Given the description of an element on the screen output the (x, y) to click on. 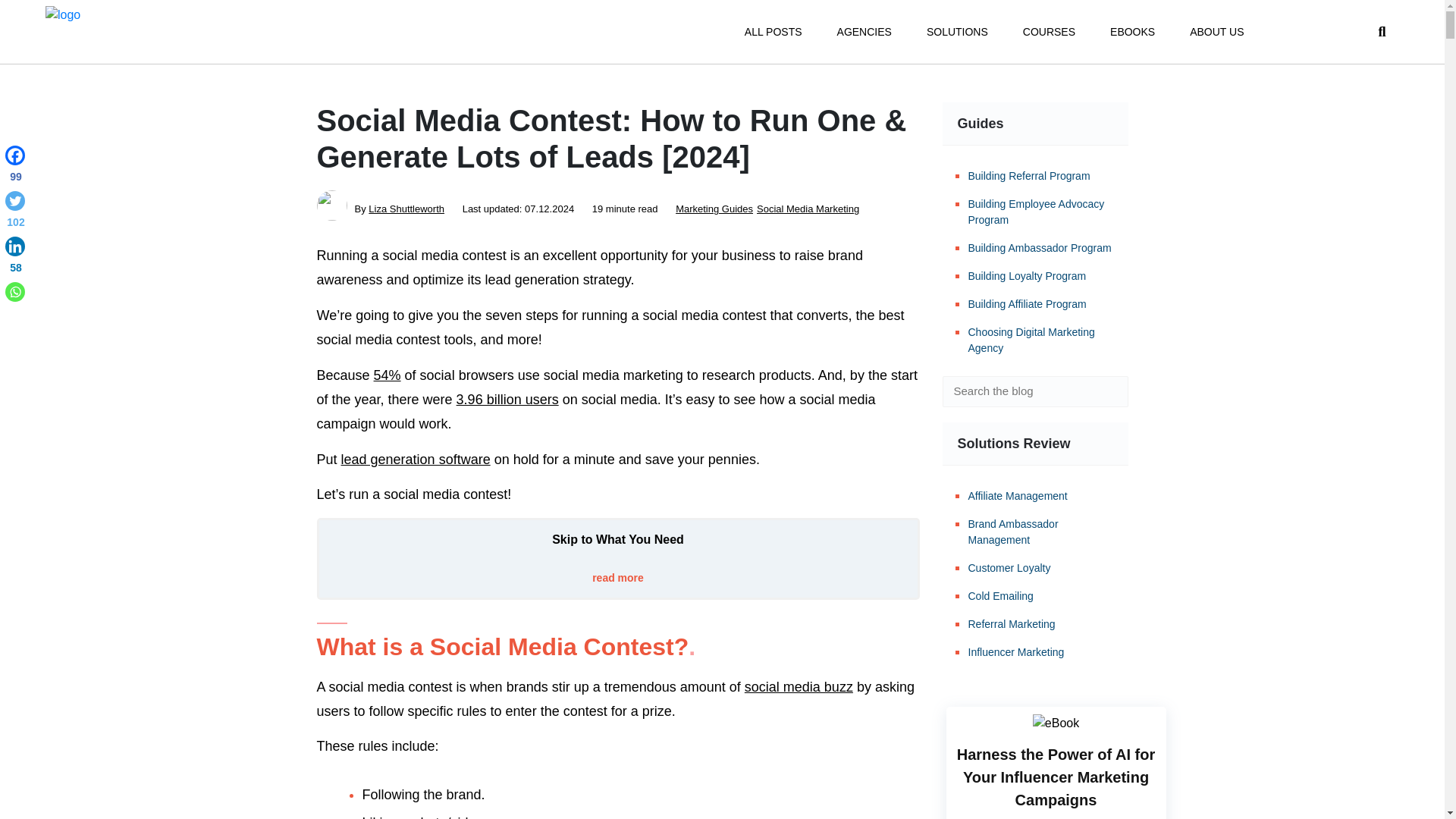
SOLUTIONS (957, 31)
Twitter (14, 211)
Whatsapp (14, 291)
AGENCIES (864, 31)
Search (1105, 391)
Facebook (14, 166)
ALL POSTS (772, 31)
Search (1105, 391)
Linkedin (14, 257)
